Given the description of an element on the screen output the (x, y) to click on. 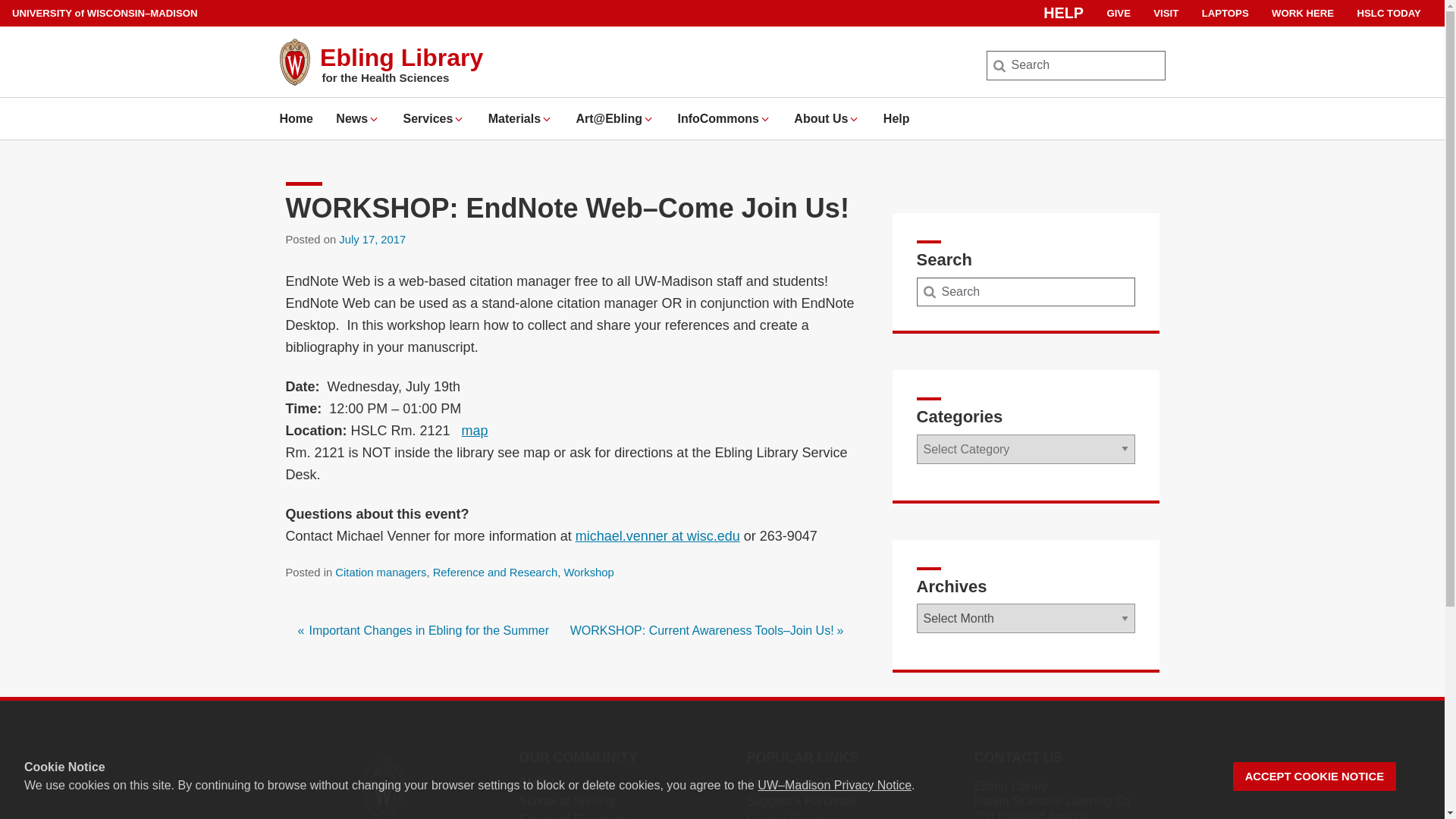
Materials Expand (520, 118)
ACCEPT COOKIE NOTICE (1314, 776)
Search (37, 16)
Home (296, 118)
Ebling Library (401, 57)
Expand (458, 119)
Expand (546, 119)
Expand (374, 119)
Expand (764, 119)
Services Expand (434, 118)
